Given the description of an element on the screen output the (x, y) to click on. 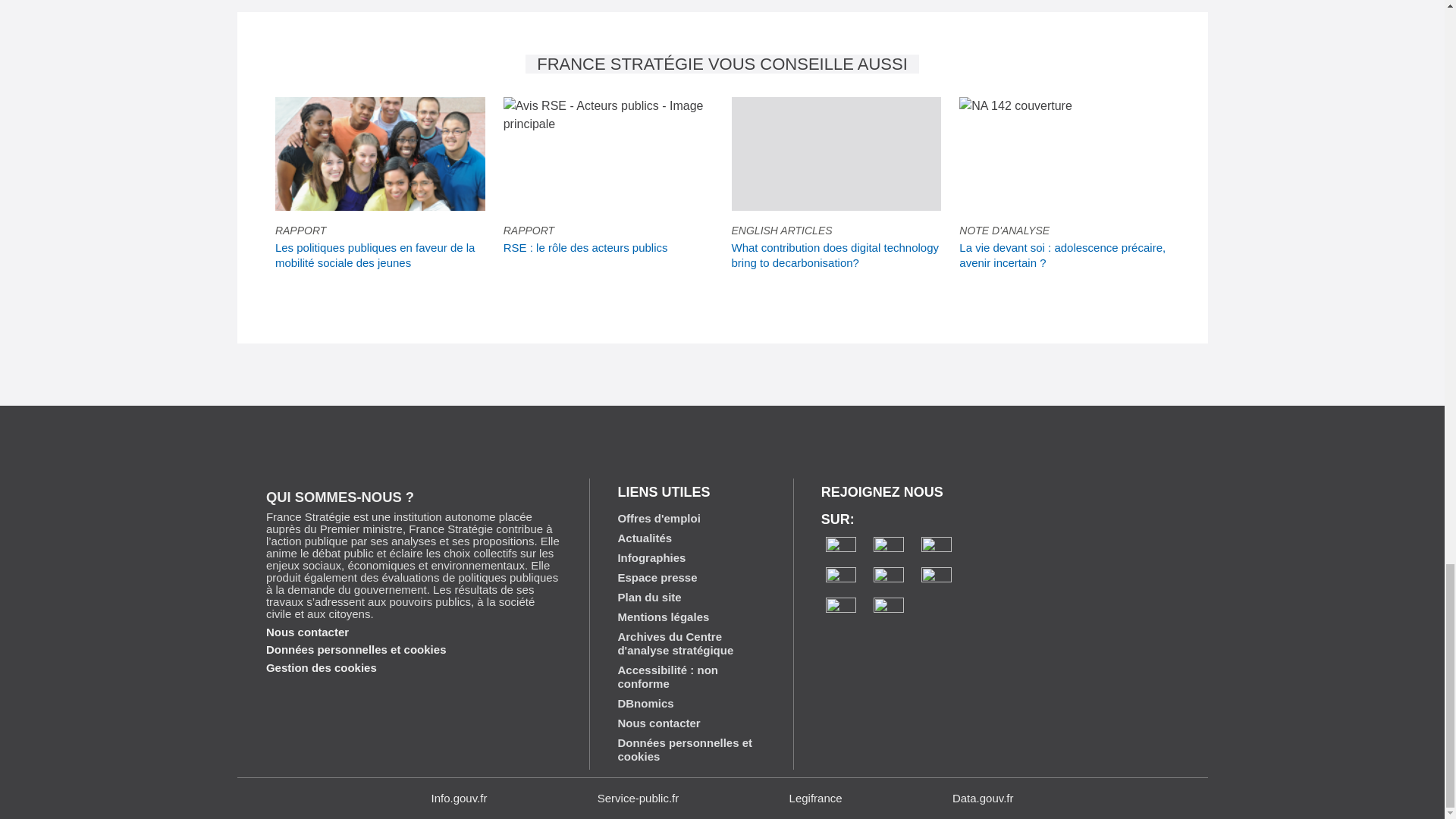
NA 142 couverture (1015, 106)
Avis RSE - Acteurs publics - Image principale (608, 115)
